Given the description of an element on the screen output the (x, y) to click on. 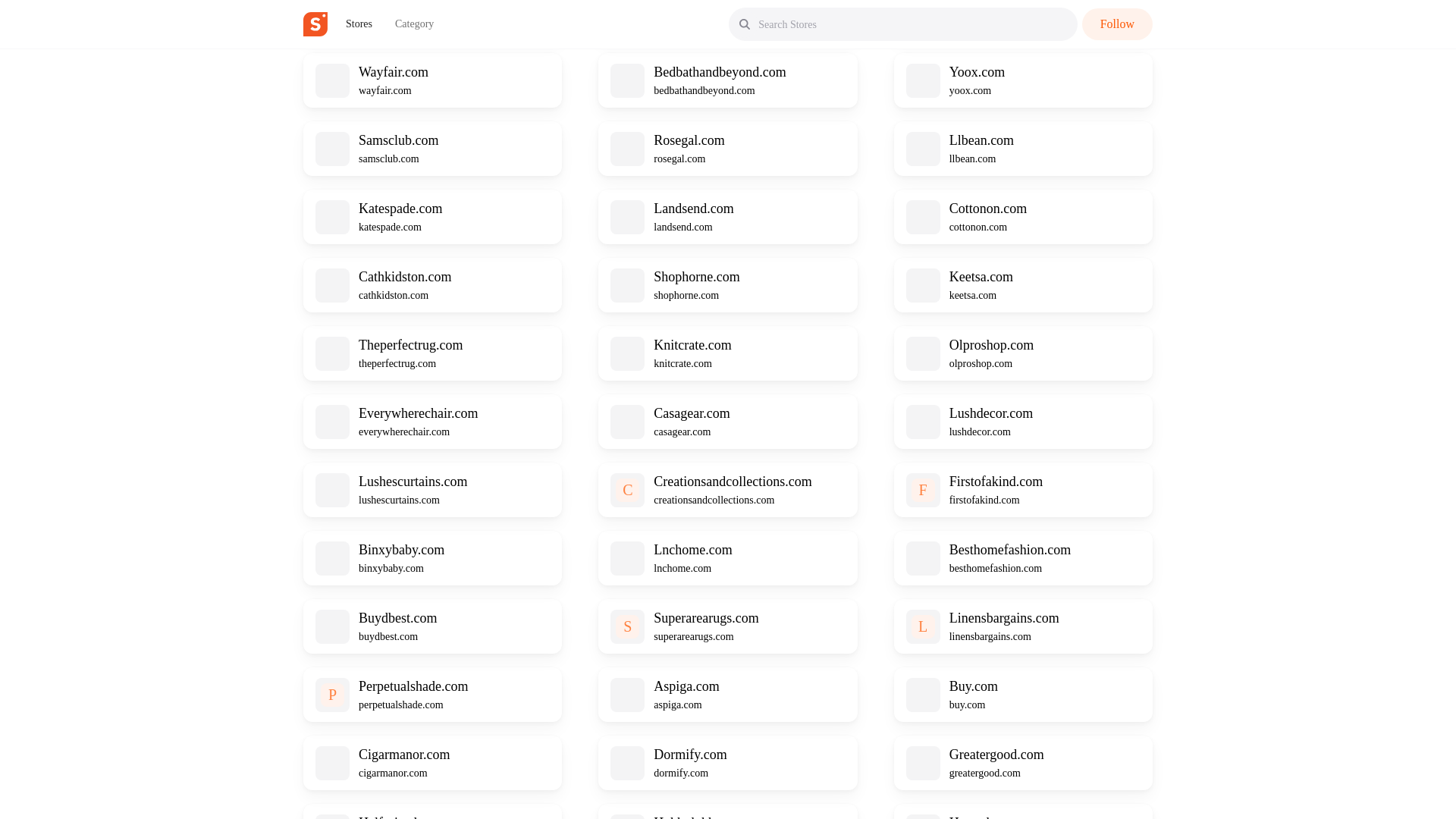
Lushescurtains.com (412, 481)
Keetsa.com (981, 276)
Rosegal.com (688, 140)
Katespade.com (400, 208)
Cathkidston.com (404, 276)
Aliexpress.com (401, 5)
Theperfectrug.com (410, 344)
Cottonon.com (988, 208)
Shophorne.com (696, 276)
Firstofakind.com (996, 481)
Olproshop.com (991, 344)
Casagear.com (691, 412)
Knitcrate.com (691, 344)
Buydbest.com (398, 617)
Dell.com (973, 5)
